Given the description of an element on the screen output the (x, y) to click on. 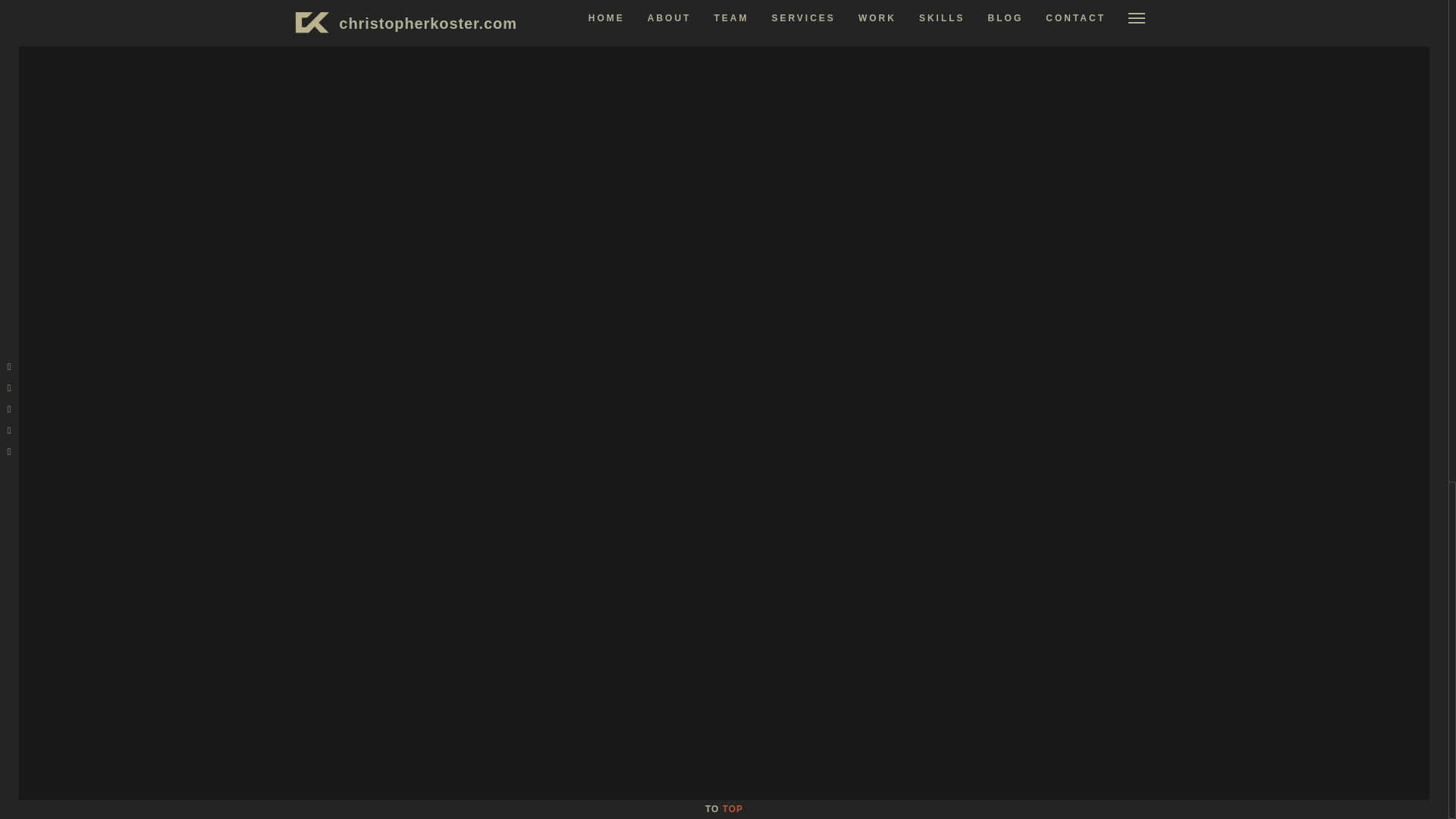
Monday (968, 142)
Sunday (1128, 142)
Friday (1074, 142)
Saturday (1101, 142)
Wednesday (1022, 142)
Tuesday (995, 142)
Thursday (1048, 142)
